Given the description of an element on the screen output the (x, y) to click on. 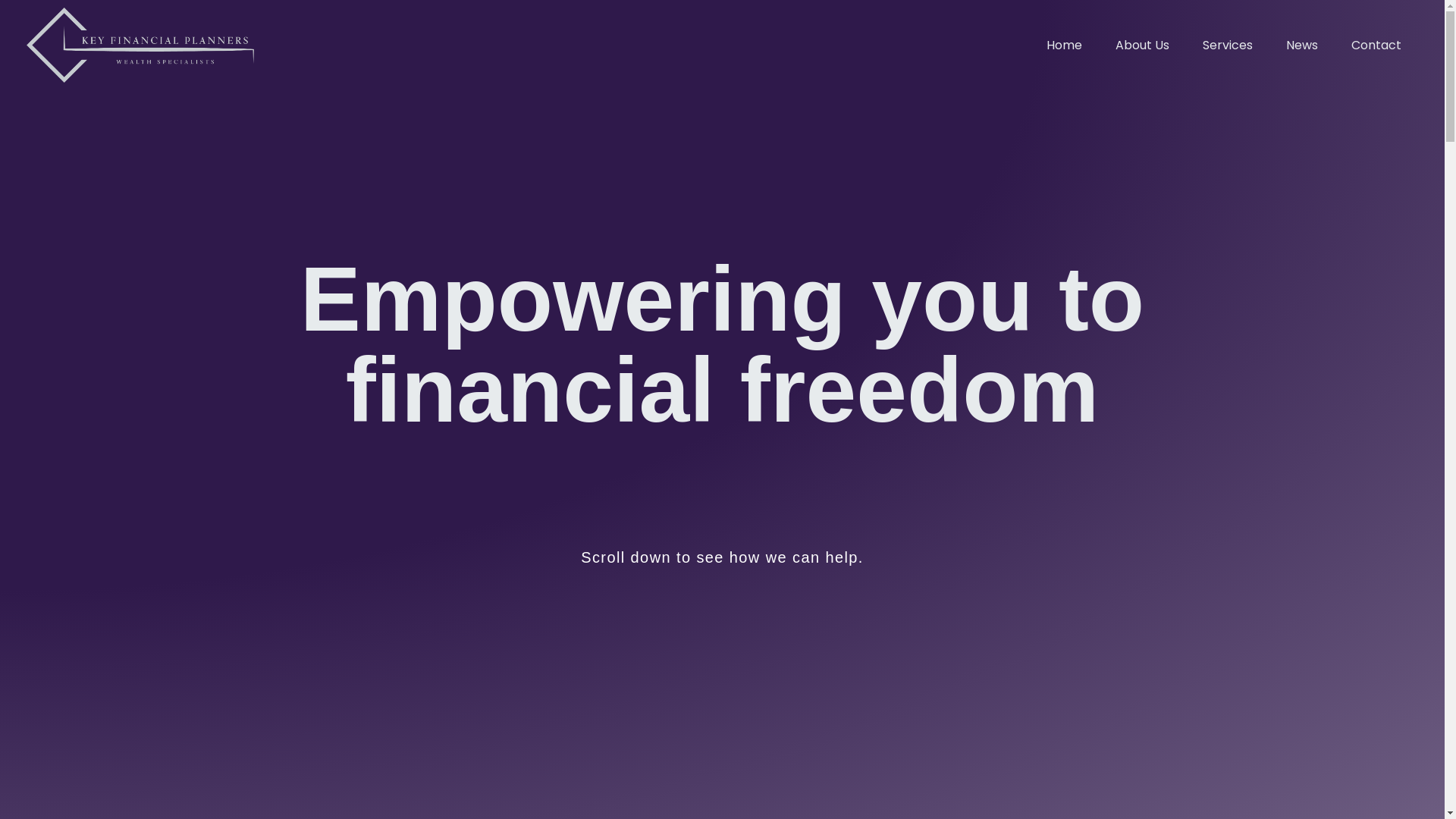
News Element type: text (1301, 44)
2022 Autumn Newsletter Element type: text (975, 541)
17 Murray Street Nuriootpa, SA 5355 Element type: text (397, 455)
Home Element type: text (1063, 44)
Financial Services Guide Element type: text (973, 368)
2022 Spring Newsletter Element type: text (970, 498)
Contact Element type: text (1376, 44)
Services Element type: text (1227, 44)
About Us Element type: text (1142, 44)
admin@keyfinancial.net.au Element type: text (372, 368)
Adviser Profile - Anthony Element type: text (975, 411)
08 8561 2400 Element type: text (333, 411)
Adviser Profile - Amanda Element type: text (976, 455)
